Given the description of an element on the screen output the (x, y) to click on. 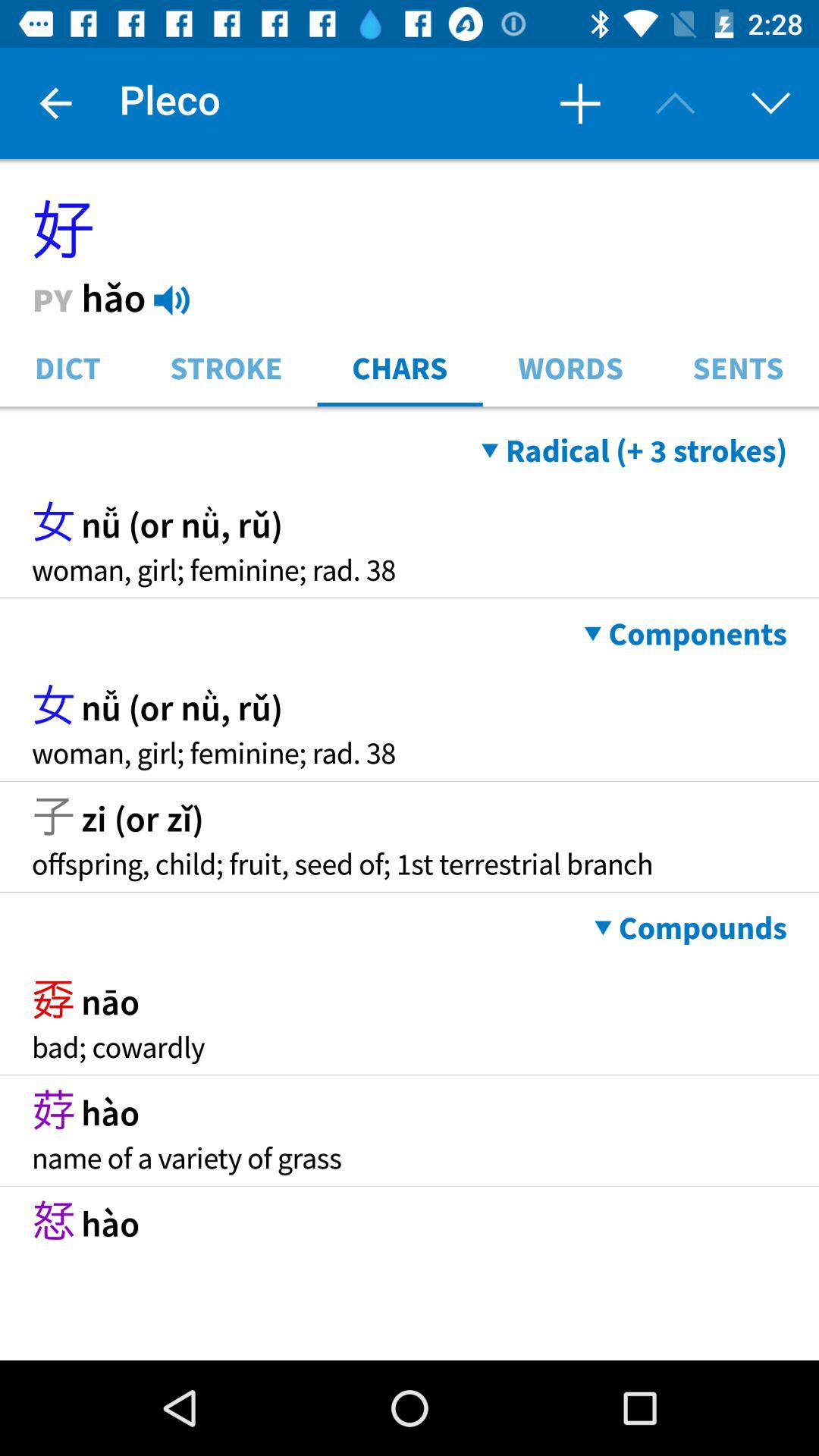
jump to sents (738, 366)
